Given the description of an element on the screen output the (x, y) to click on. 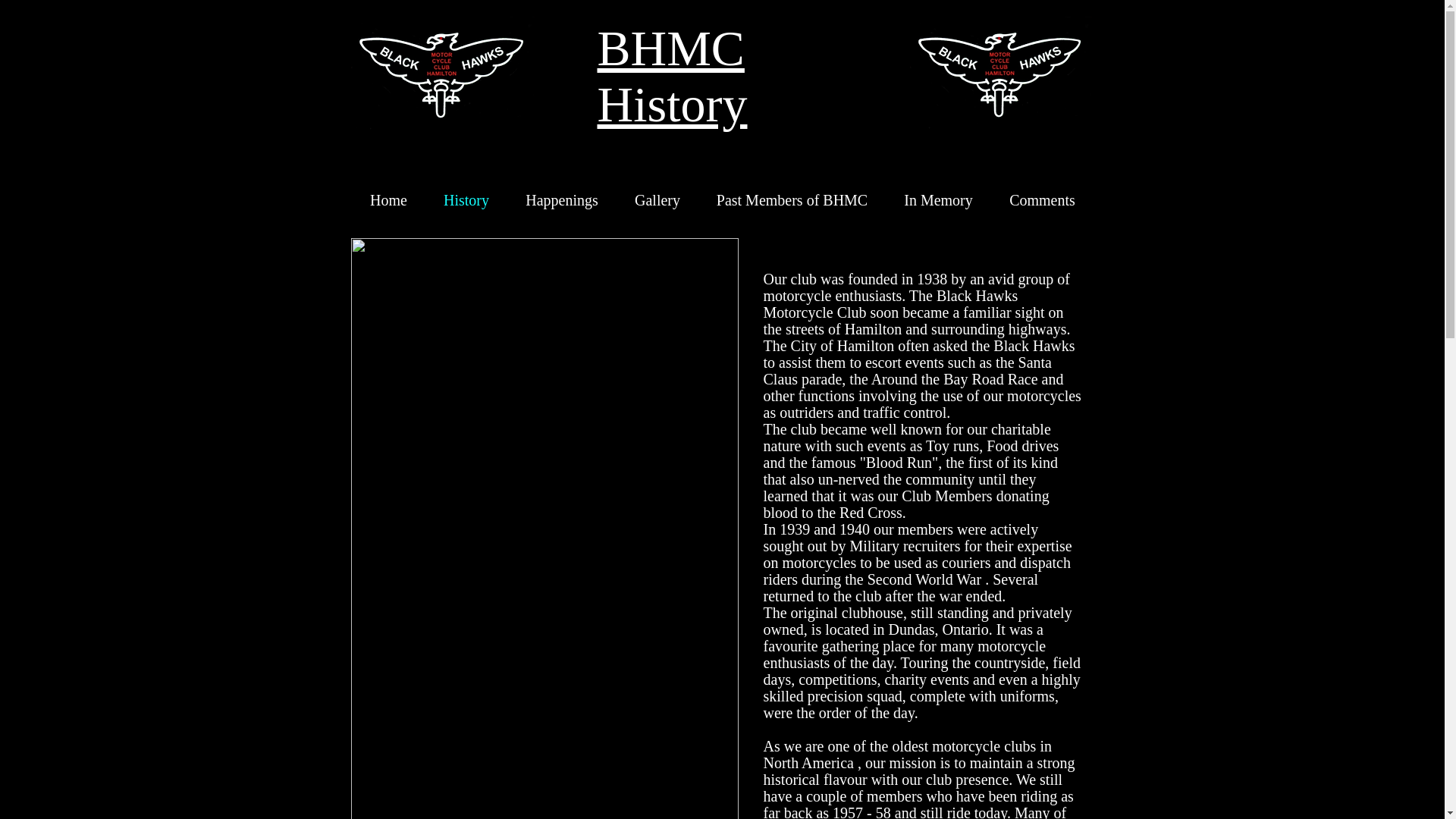
Home Element type: text (387, 200)
History Element type: text (465, 200)
In Memory Element type: text (938, 200)
Happenings Element type: text (560, 200)
Comments Element type: text (1041, 200)
Gallery Element type: text (656, 200)
Past Members of BHMC Element type: text (790, 200)
